Given the description of an element on the screen output the (x, y) to click on. 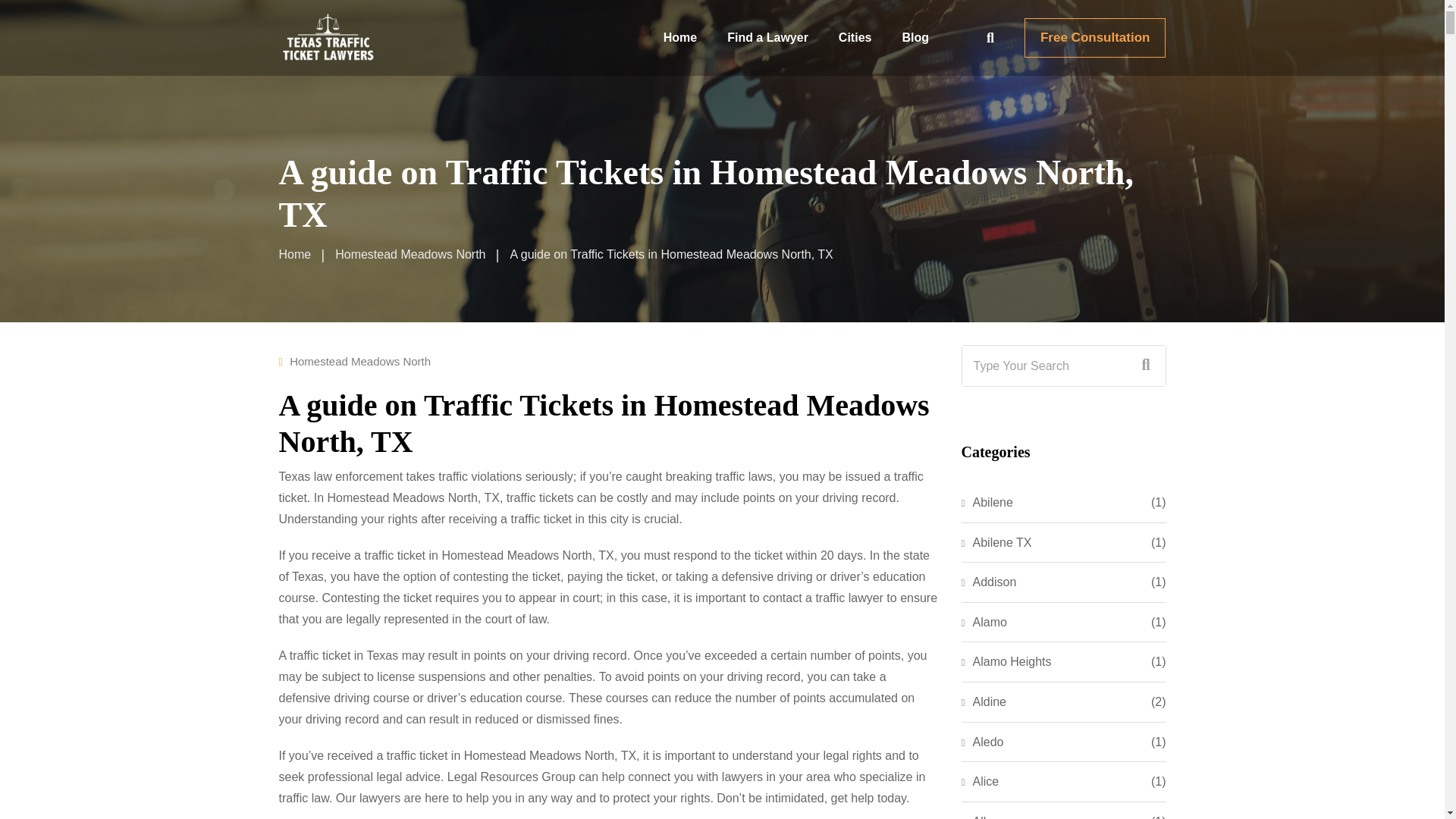
Abilene (986, 502)
Alice (979, 781)
Allen (980, 815)
Find a Lawyer (767, 38)
Aledo (982, 742)
Alamo (983, 622)
Alamo Heights (1005, 661)
Free Consultation (1095, 37)
Aldine (983, 701)
Home (295, 254)
